Given the description of an element on the screen output the (x, y) to click on. 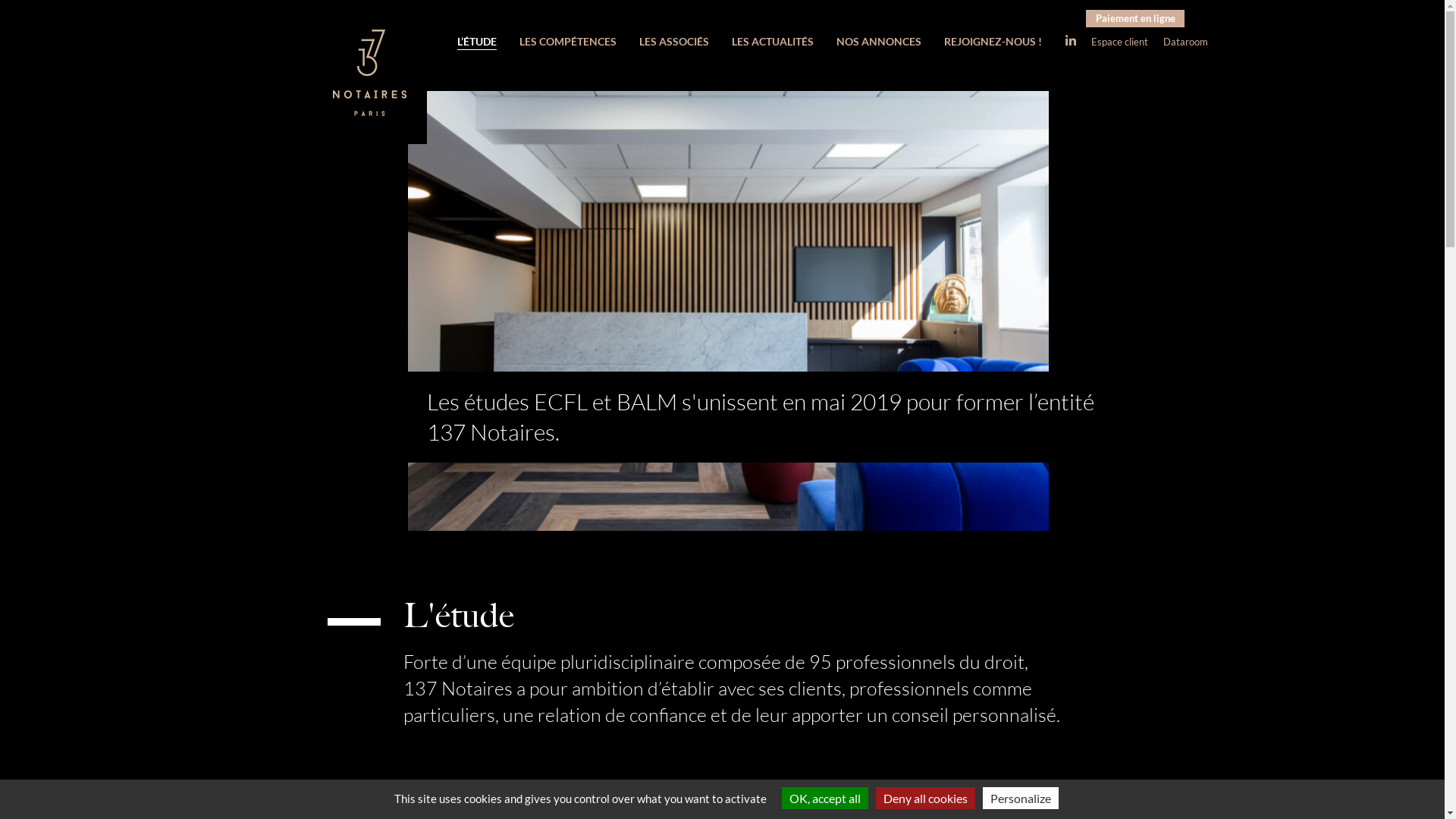
REJOIGNEZ-NOUS ! Element type: text (992, 41)
Espace client Element type: text (1118, 41)
Paiement en ligne Element type: text (1134, 18)
OK, accept all Element type: text (824, 798)
Dataroom Element type: text (1185, 41)
Deny all cookies Element type: text (924, 798)
NOS ANNONCES Element type: text (877, 41)
Personalize Element type: text (1020, 798)
